Given the description of an element on the screen output the (x, y) to click on. 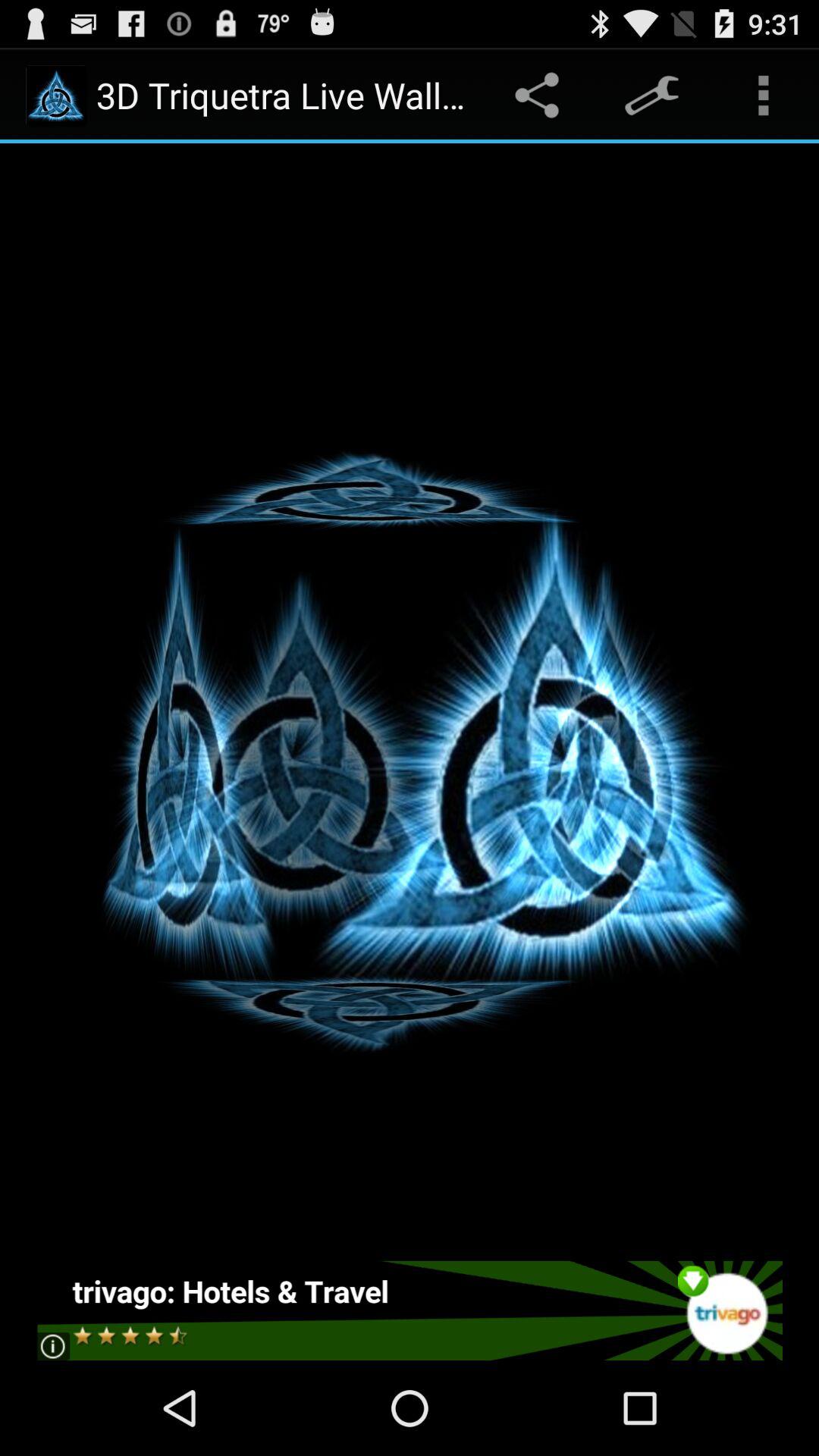
press item to the right of the 3d triquetra live icon (540, 95)
